Given the description of an element on the screen output the (x, y) to click on. 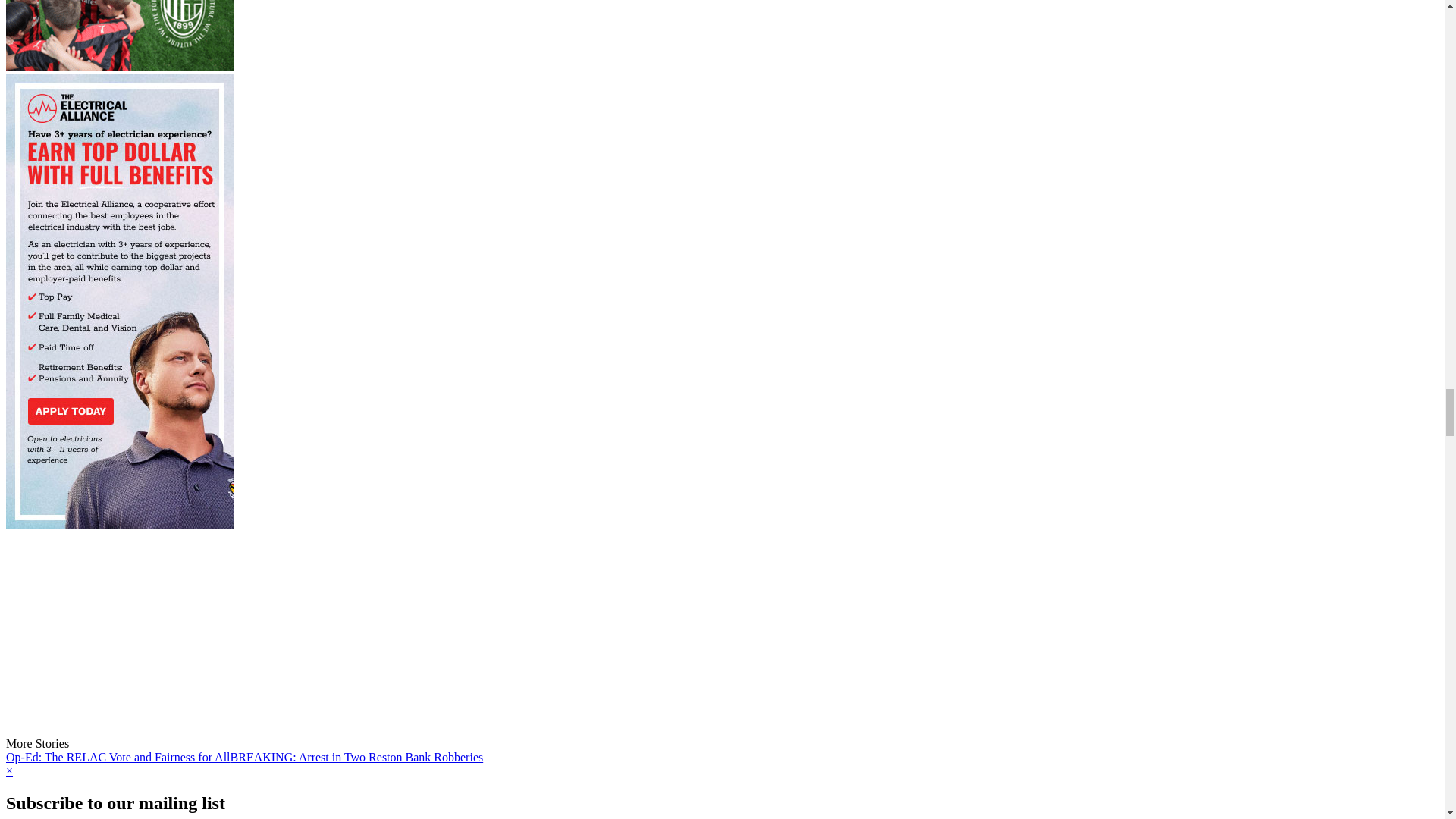
AC Milan Academy Summer Camps (118, 37)
